Given the description of an element on the screen output the (x, y) to click on. 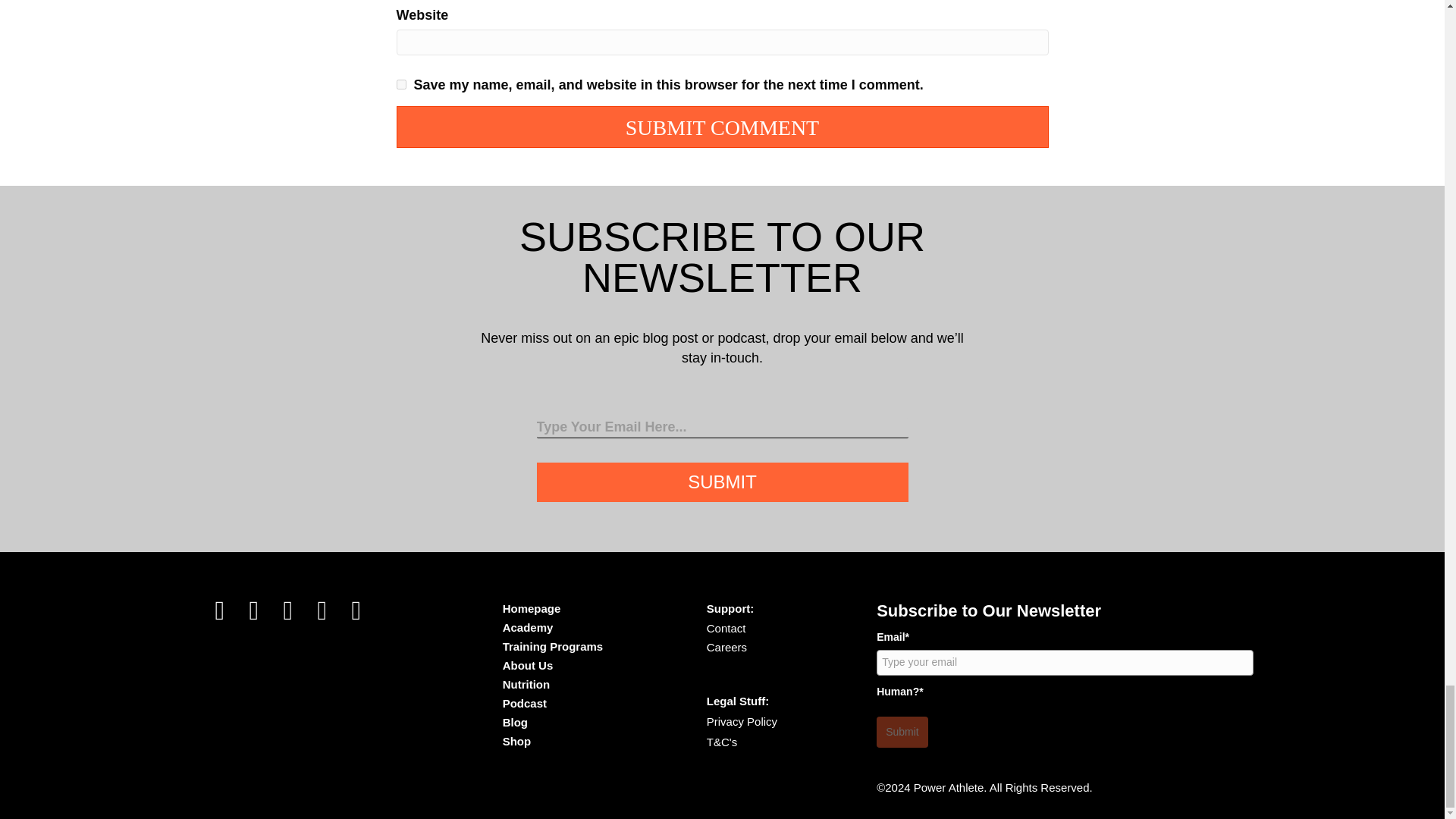
Submit Comment (722, 127)
Submit (722, 482)
yes (401, 84)
